Given the description of an element on the screen output the (x, y) to click on. 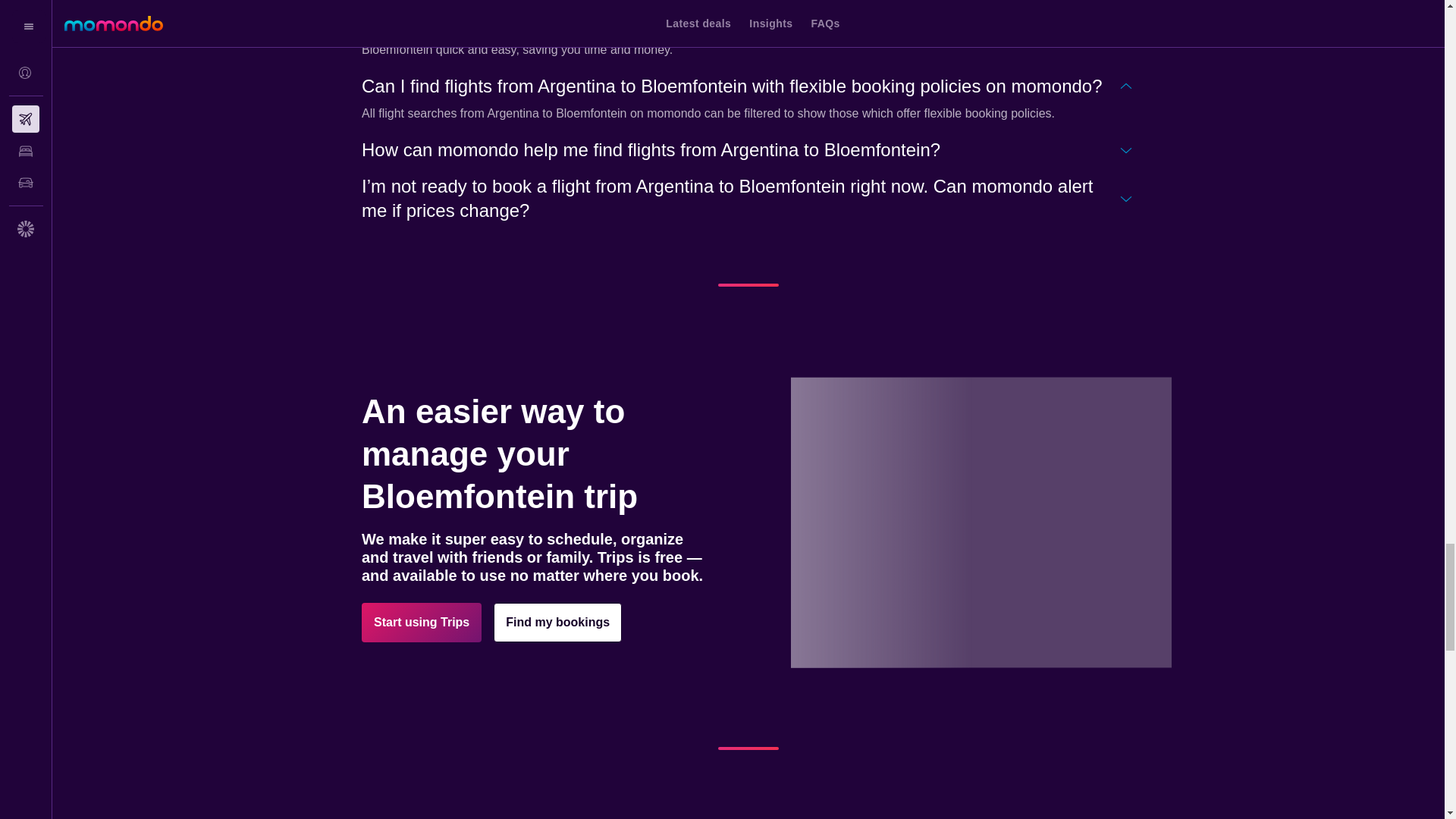
Start using Trips (421, 622)
Find my bookings (557, 622)
